Given the description of an element on the screen output the (x, y) to click on. 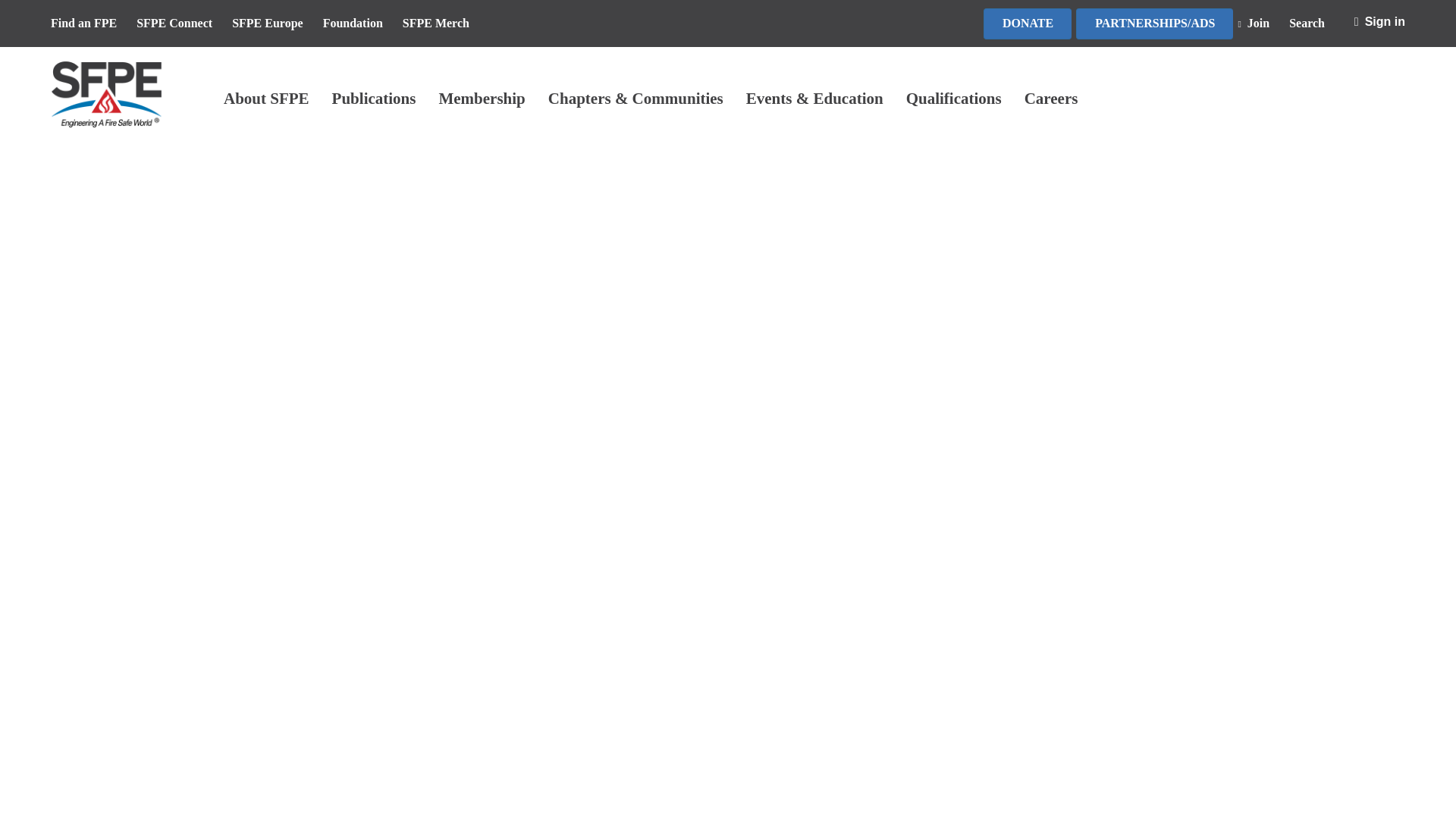
About SFPE (266, 98)
SFPE Merch (443, 23)
Search Page (1260, 23)
Find an FPE (91, 23)
Search (1313, 23)
SFPE Connect (181, 23)
DONATE (1027, 23)
Sign in (1379, 22)
Join (1260, 23)
Foundation (360, 23)
SFPE Europe (274, 23)
Search Page (1313, 23)
